Given the description of an element on the screen output the (x, y) to click on. 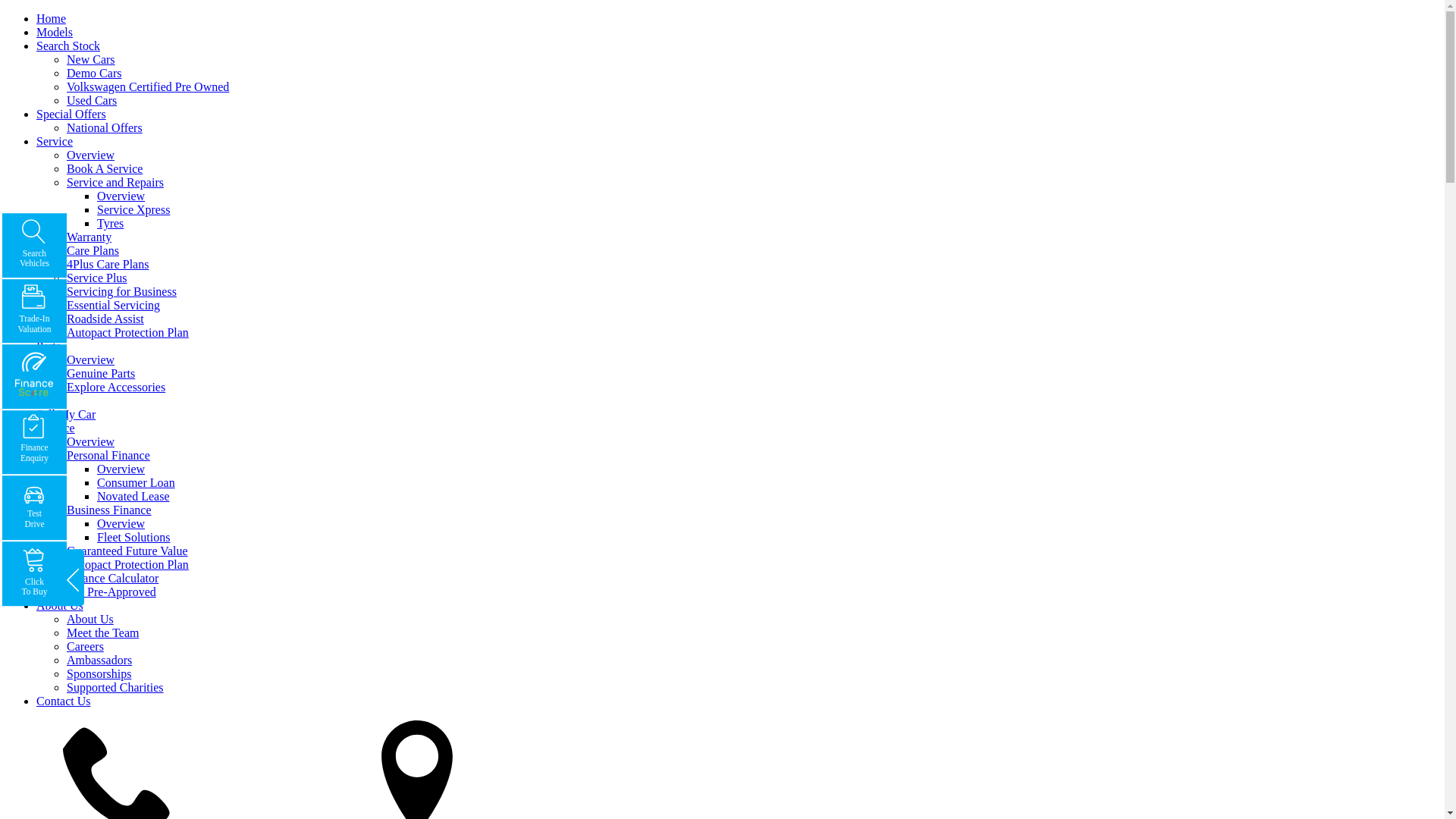
Book A Service Element type: text (104, 168)
Models Element type: text (54, 31)
New Cars Element type: text (90, 59)
Click
To Buy Element type: text (34, 573)
Explore Accessories Element type: text (115, 386)
Volkswagen Certified Pre Owned Element type: text (147, 86)
Tyres Element type: text (110, 222)
Overview Element type: text (90, 441)
Finance Element type: text (55, 427)
Fleet Element type: text (48, 400)
Overview Element type: text (120, 523)
Consumer Loan Element type: text (136, 482)
Business Finance Element type: text (108, 509)
Supported Charities Element type: text (114, 686)
Servicing for Business Element type: text (121, 291)
Guaranteed Future Value Element type: text (127, 550)
Trade-In
Valuation Element type: text (34, 311)
Meet the Team Element type: text (102, 632)
Fleet Solutions Element type: text (133, 536)
Search
Vehicles Element type: text (34, 245)
National Offers Element type: text (104, 127)
Personal Finance Element type: text (108, 454)
Service Xpress Element type: text (133, 209)
4Plus Care Plans Element type: text (107, 263)
Parts Element type: text (48, 345)
Special Offers Element type: text (71, 113)
Contact Us Element type: text (63, 700)
Service and Repairs Element type: text (114, 181)
Home Element type: text (50, 18)
Careers Element type: text (84, 646)
Sponsorships Element type: text (98, 673)
Sell My Car Element type: text (65, 413)
Service Plus Element type: text (96, 277)
About Us Element type: text (59, 605)
Autopact Protection Plan Element type: text (127, 564)
Finance Calculator Element type: text (112, 577)
Roadside Assist Element type: text (105, 318)
Overview Element type: text (90, 154)
Used Cars Element type: text (91, 100)
Genuine Parts Element type: text (100, 373)
Get Pre-Approved Element type: text (111, 591)
Search Stock Element type: text (68, 45)
Care Plans Element type: text (92, 250)
Overview Element type: text (90, 359)
Finance
Enquiry Element type: text (34, 442)
Overview Element type: text (120, 195)
Overview Element type: text (120, 468)
About Us Element type: text (89, 618)
Novated Lease Element type: text (133, 495)
Service Element type: text (54, 140)
Autopact Protection Plan Element type: text (127, 332)
Warranty Element type: text (88, 236)
Demo Cars Element type: text (93, 72)
Essential Servicing Element type: text (113, 304)
Ambassadors Element type: text (98, 659)
Test
Drive Element type: text (34, 508)
